Given the description of an element on the screen output the (x, y) to click on. 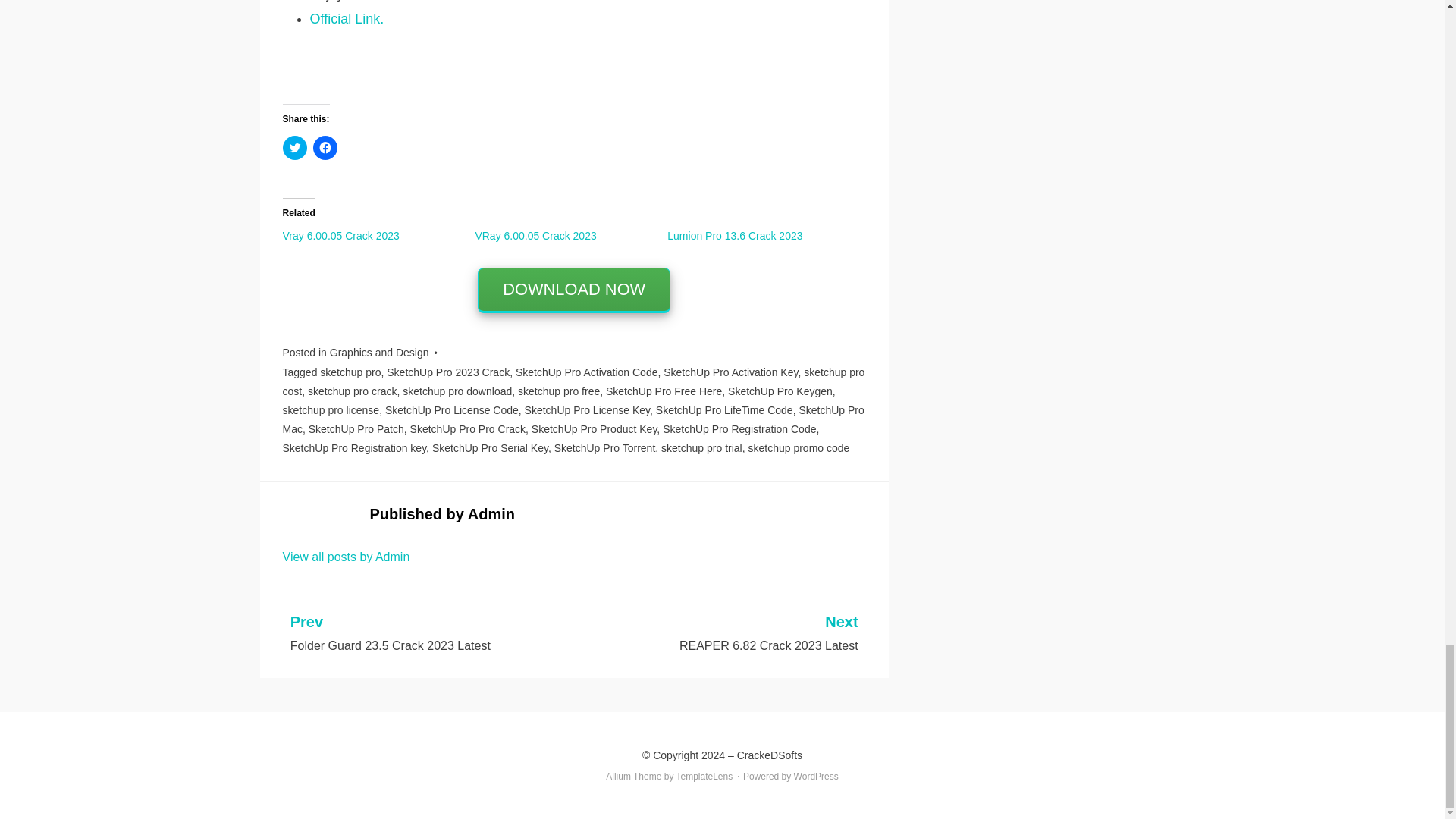
Vray 6.00.05 Crack 2023 (340, 235)
VRay 6.00.05 Crack 2023 (534, 235)
VRay 6.00.05 Crack 2023 (534, 235)
Click to share on Twitter (293, 147)
TemplateLens (705, 776)
Graphics and Design (379, 352)
SketchUp Pro Activation Code (586, 372)
sketchup pro cost (573, 381)
DOWNLOAD NOW (573, 289)
WordPress (815, 776)
Lumion Pro 13.6 Crack 2023 (734, 235)
Vray 6.00.05 Crack 2023 (340, 235)
Click to share on Facebook (324, 147)
DOWNLOAD NOW (573, 290)
Official Link. (346, 18)
